Given the description of an element on the screen output the (x, y) to click on. 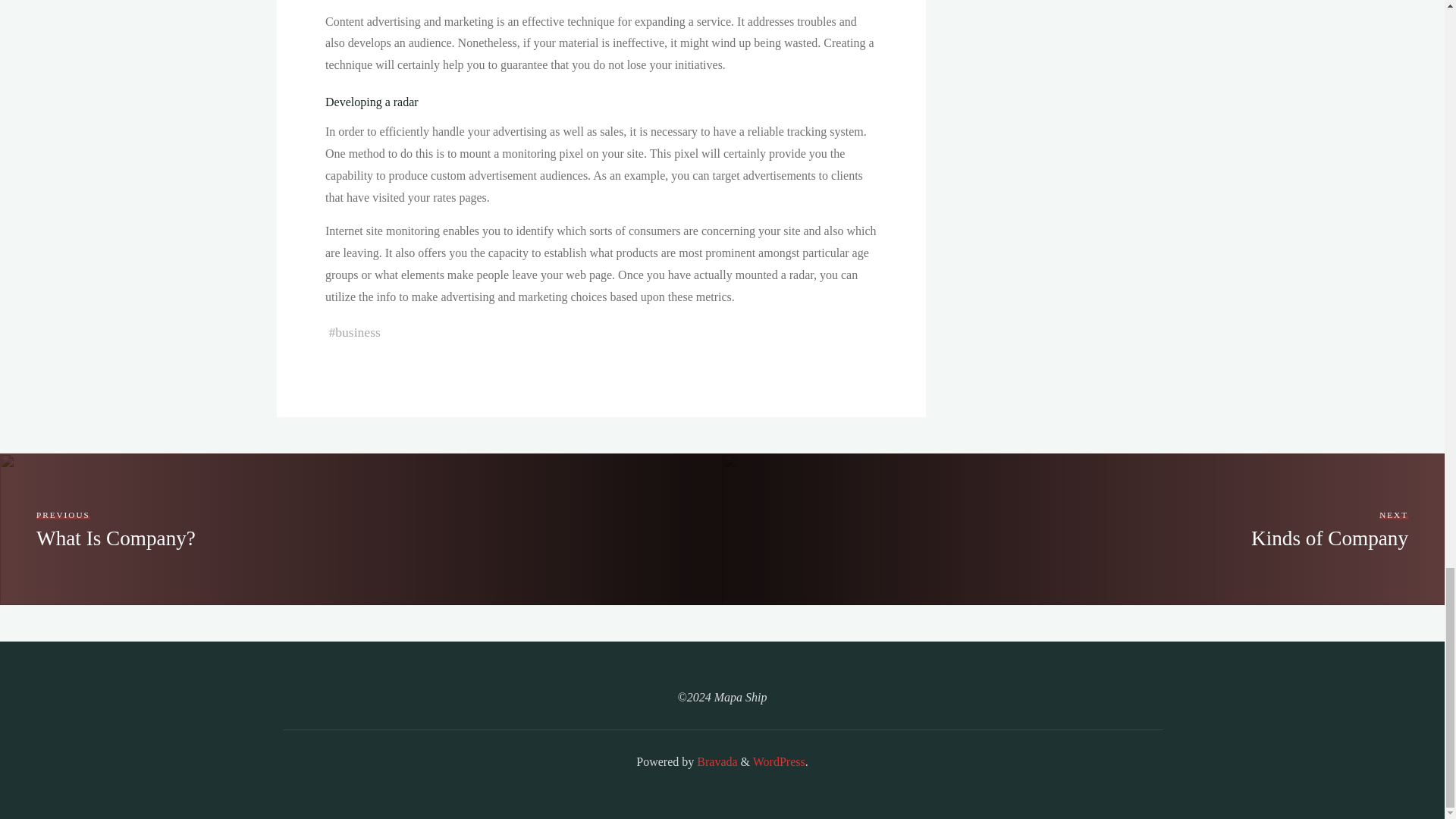
WordPress (115, 529)
business (778, 761)
Semantic Personal Publishing Platform (1328, 529)
Bravada (357, 331)
Bravada WordPress Theme by Cryout Creations (778, 761)
